Given the description of an element on the screen output the (x, y) to click on. 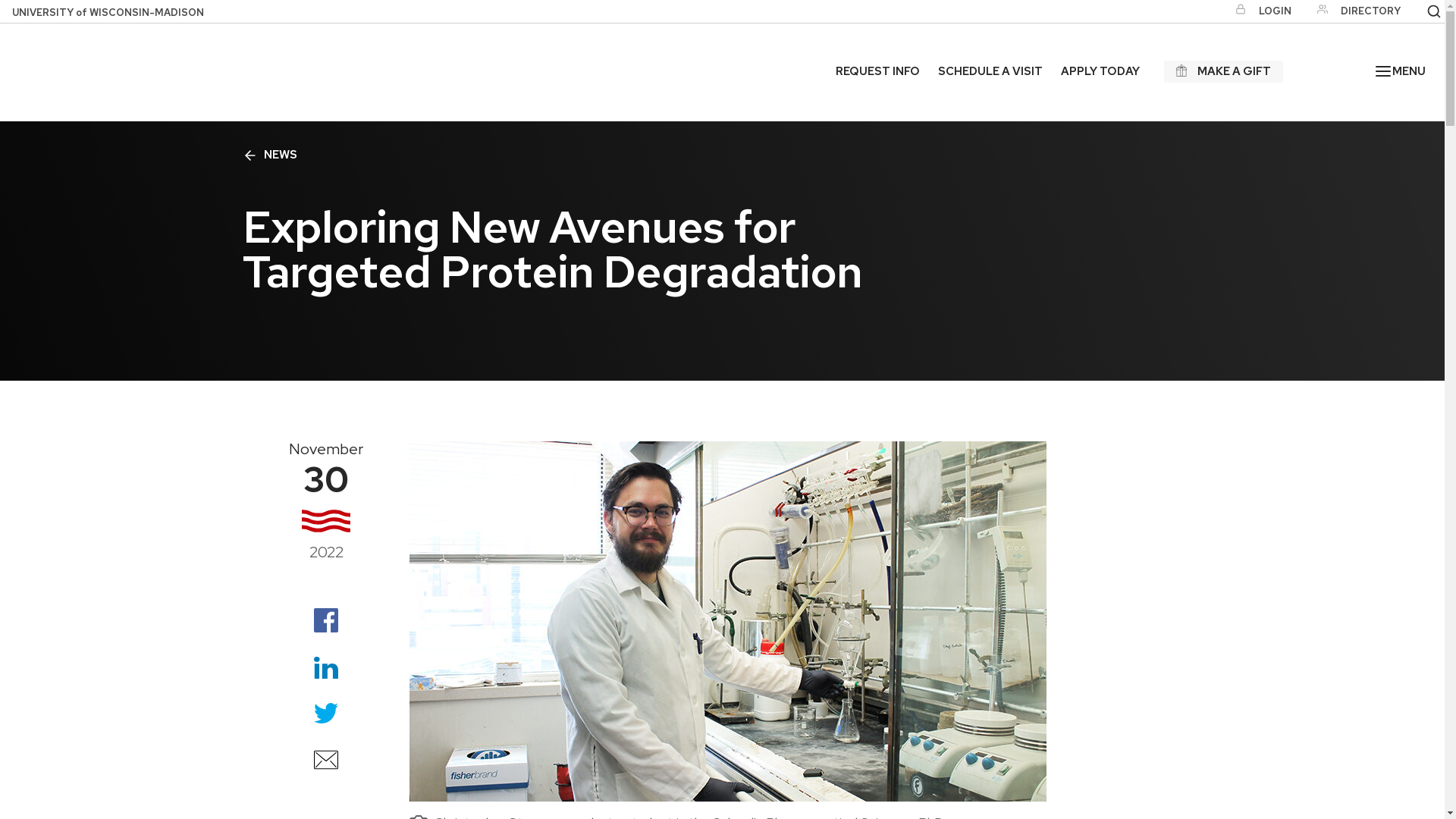
MENU (1399, 71)
MAKE A GIFT (1223, 70)
DIRECTORY (1354, 11)
REQUEST INFO (877, 70)
APPLY TODAY (1100, 70)
SCHEDULE A VISIT (989, 70)
LOGIN (1258, 11)
UNIVERSITY of WISCONSIN-MADISON (119, 11)
